Given the description of an element on the screen output the (x, y) to click on. 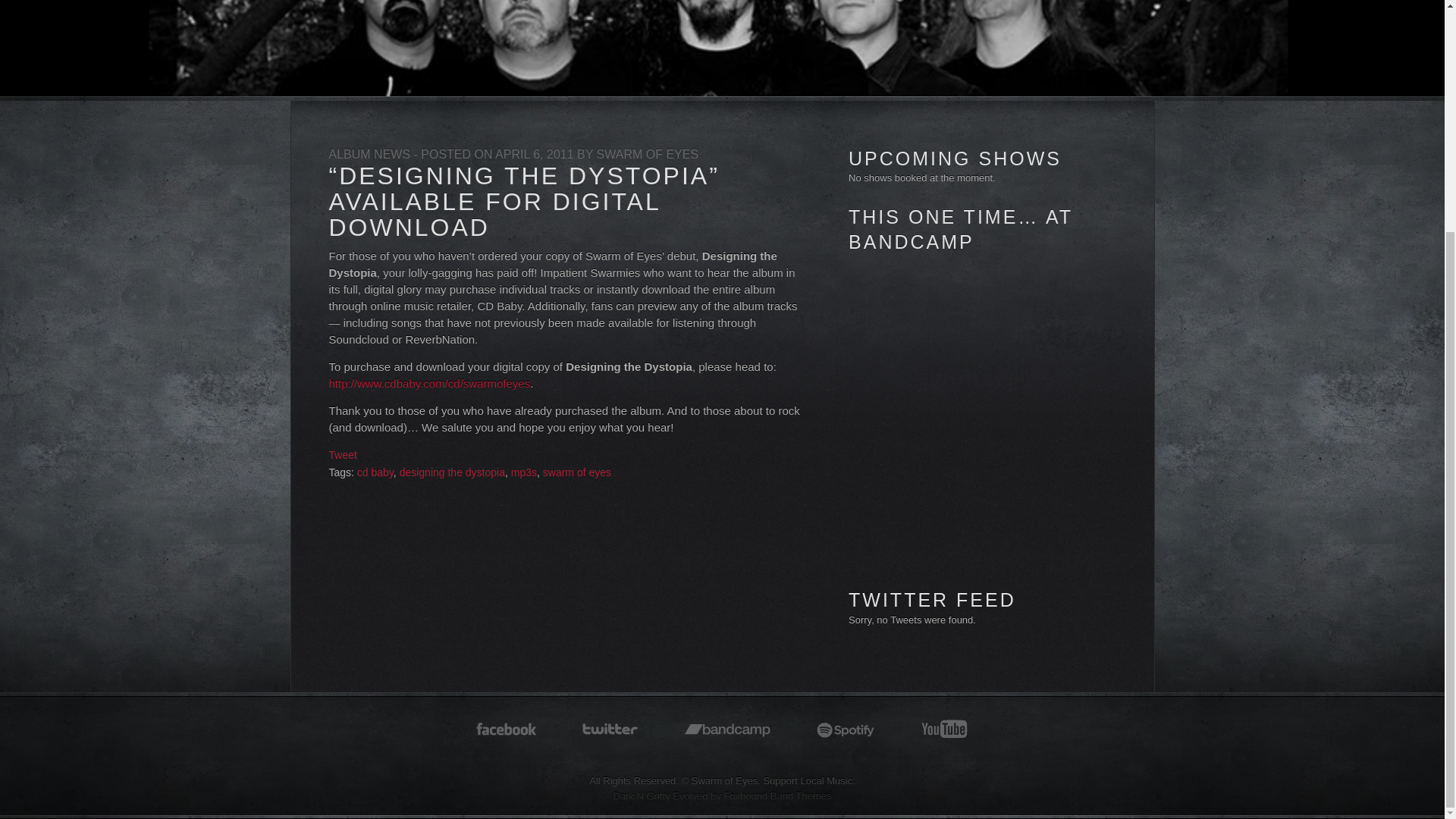
cd baby (374, 472)
Posts by Swarm of Eyes (647, 154)
designing the dystopia (451, 472)
facebook (506, 729)
Dark N Gritty Evolved (659, 795)
mp3s (524, 472)
swarm of eyes (577, 472)
spotify (845, 729)
Foxhound Band Themes (777, 795)
SWARM OF EYES (647, 154)
youtube (944, 729)
ALBUM NEWS (369, 154)
twitter (610, 729)
Tweet (342, 454)
bandcamp (727, 729)
